Given the description of an element on the screen output the (x, y) to click on. 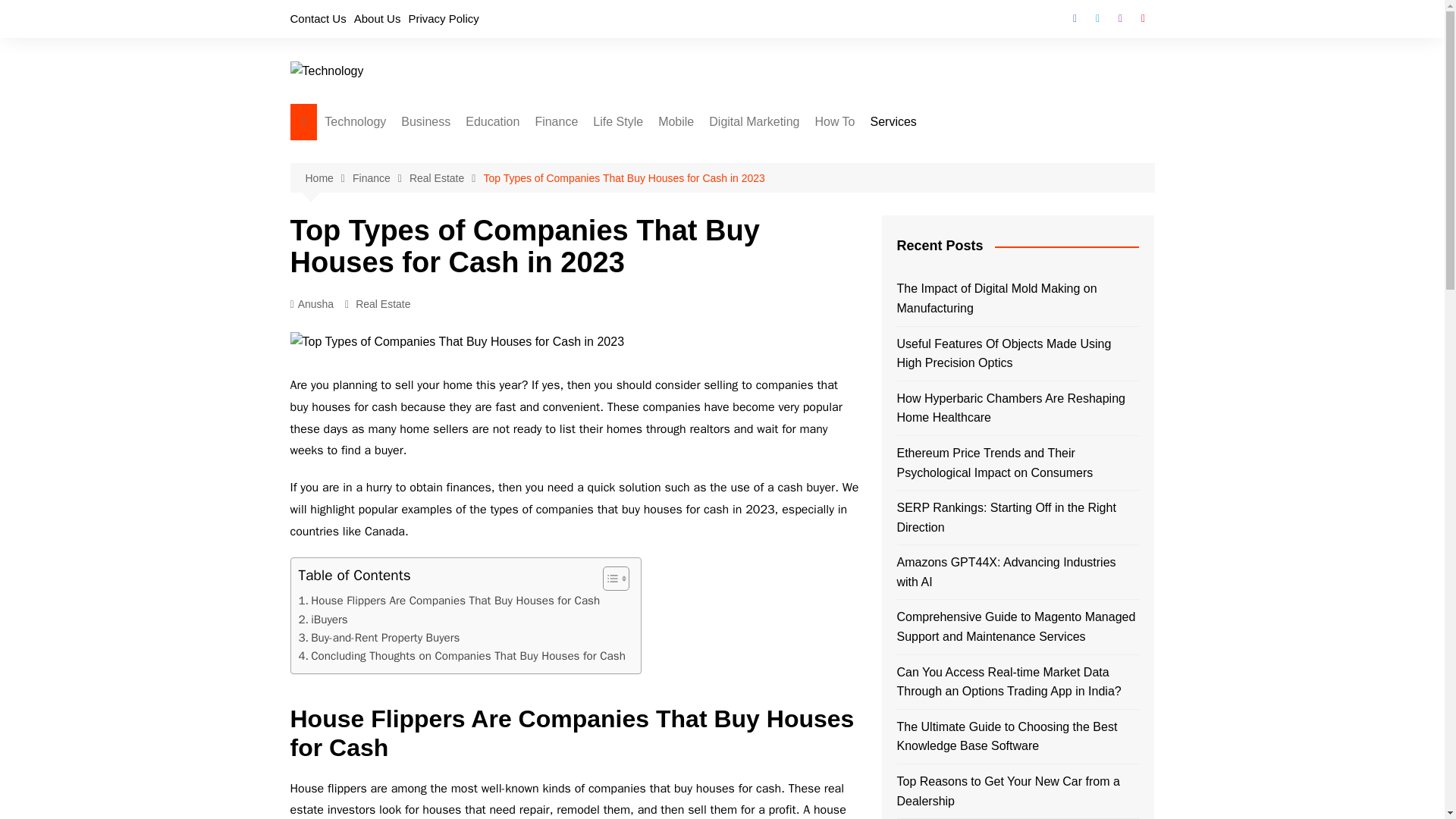
Cloud Computing (400, 227)
Web Designing (476, 177)
About Us (377, 18)
Banking (610, 152)
E-Commerce (476, 152)
Top Firms (476, 277)
Health (668, 177)
House Flippers Are Companies That Buy Houses for Cash (448, 600)
NFTs (400, 277)
Privacy Policy (443, 18)
Twitter (1097, 18)
WordPress Development (476, 252)
Software (400, 352)
Facebook (1074, 18)
Education (492, 122)
